Given the description of an element on the screen output the (x, y) to click on. 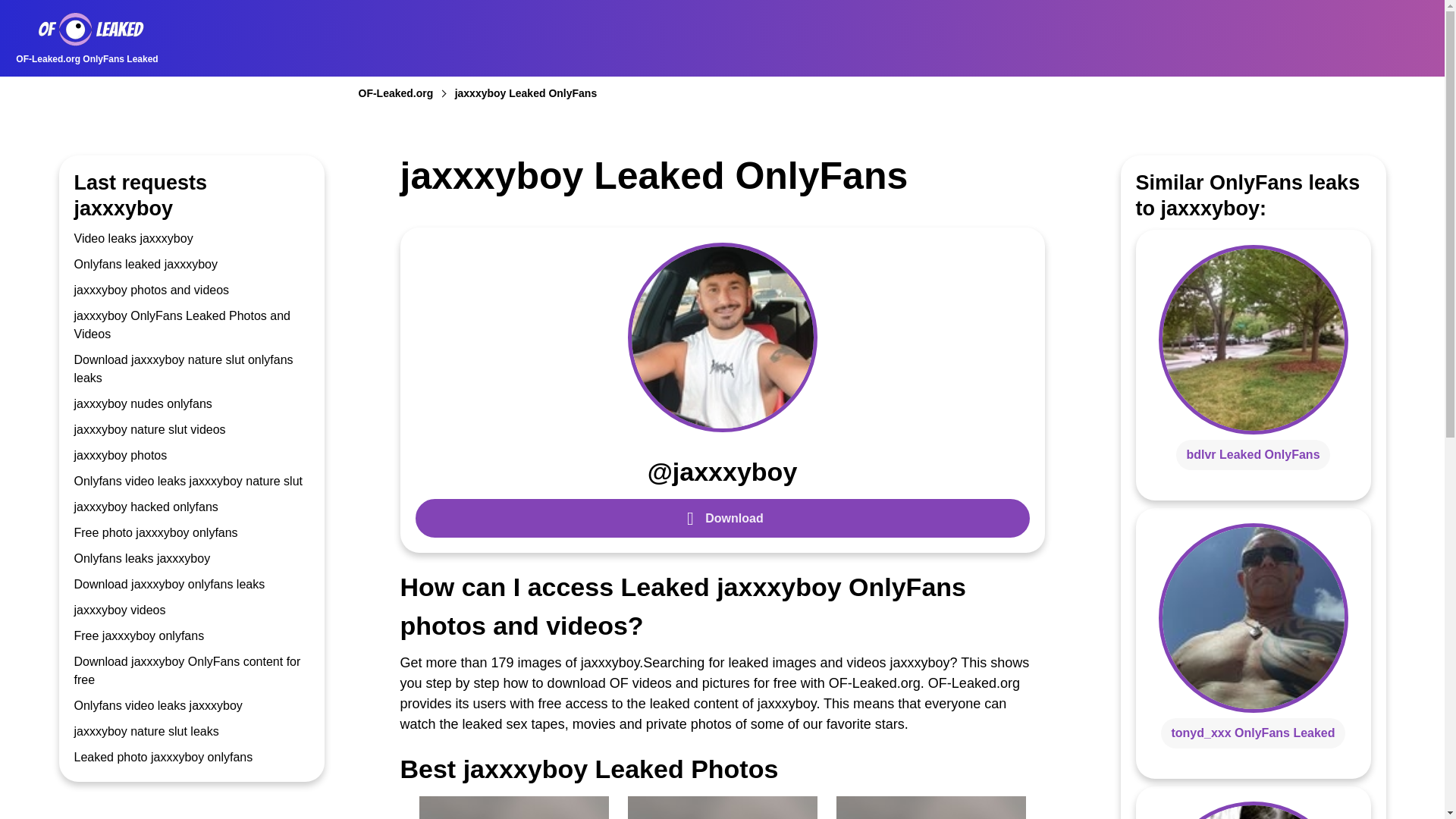
OF-Leaked.org (404, 93)
bdlvr Leaked OnlyFans (1252, 453)
Download (721, 517)
